Given the description of an element on the screen output the (x, y) to click on. 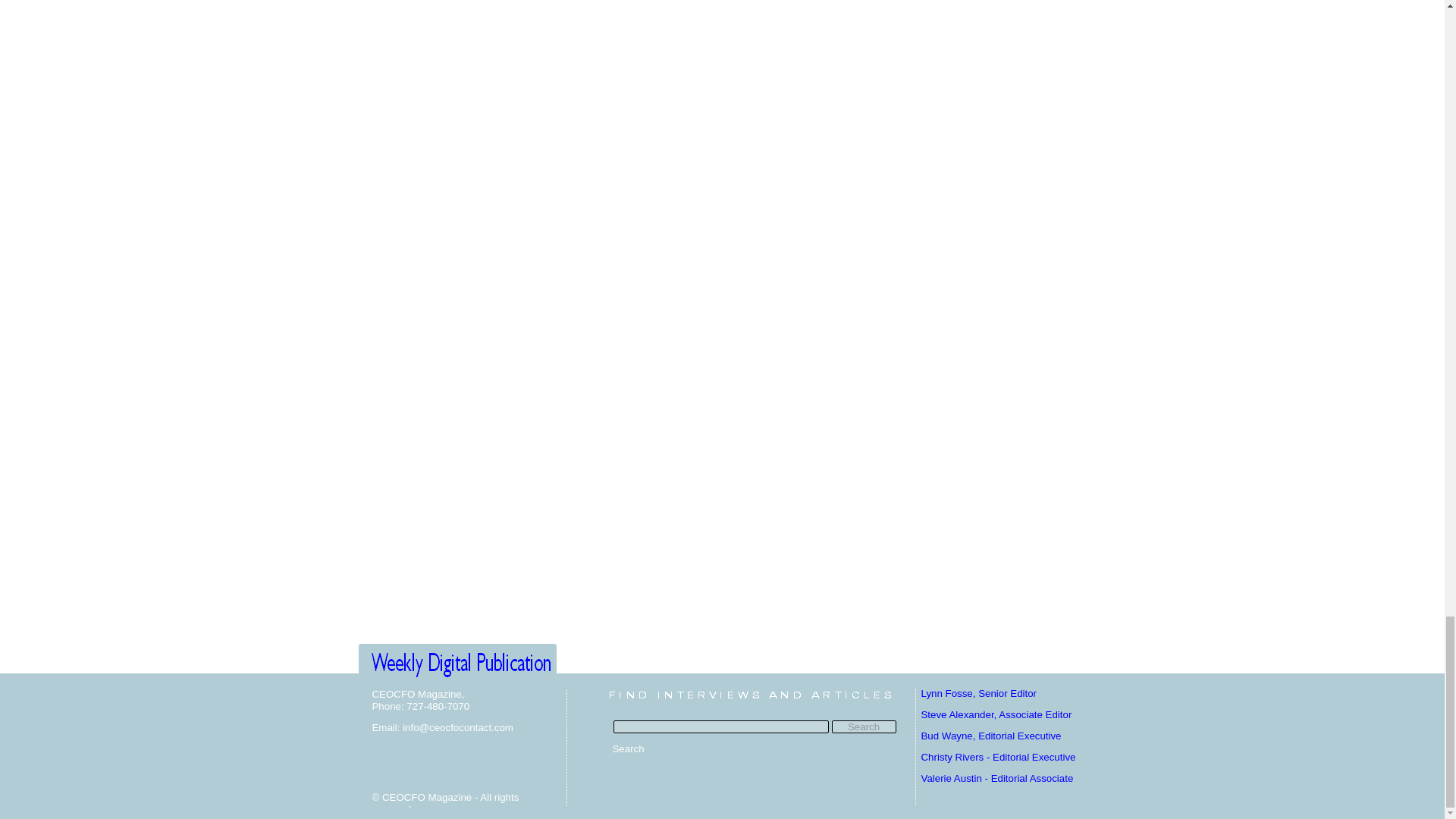
Search (863, 726)
